Given the description of an element on the screen output the (x, y) to click on. 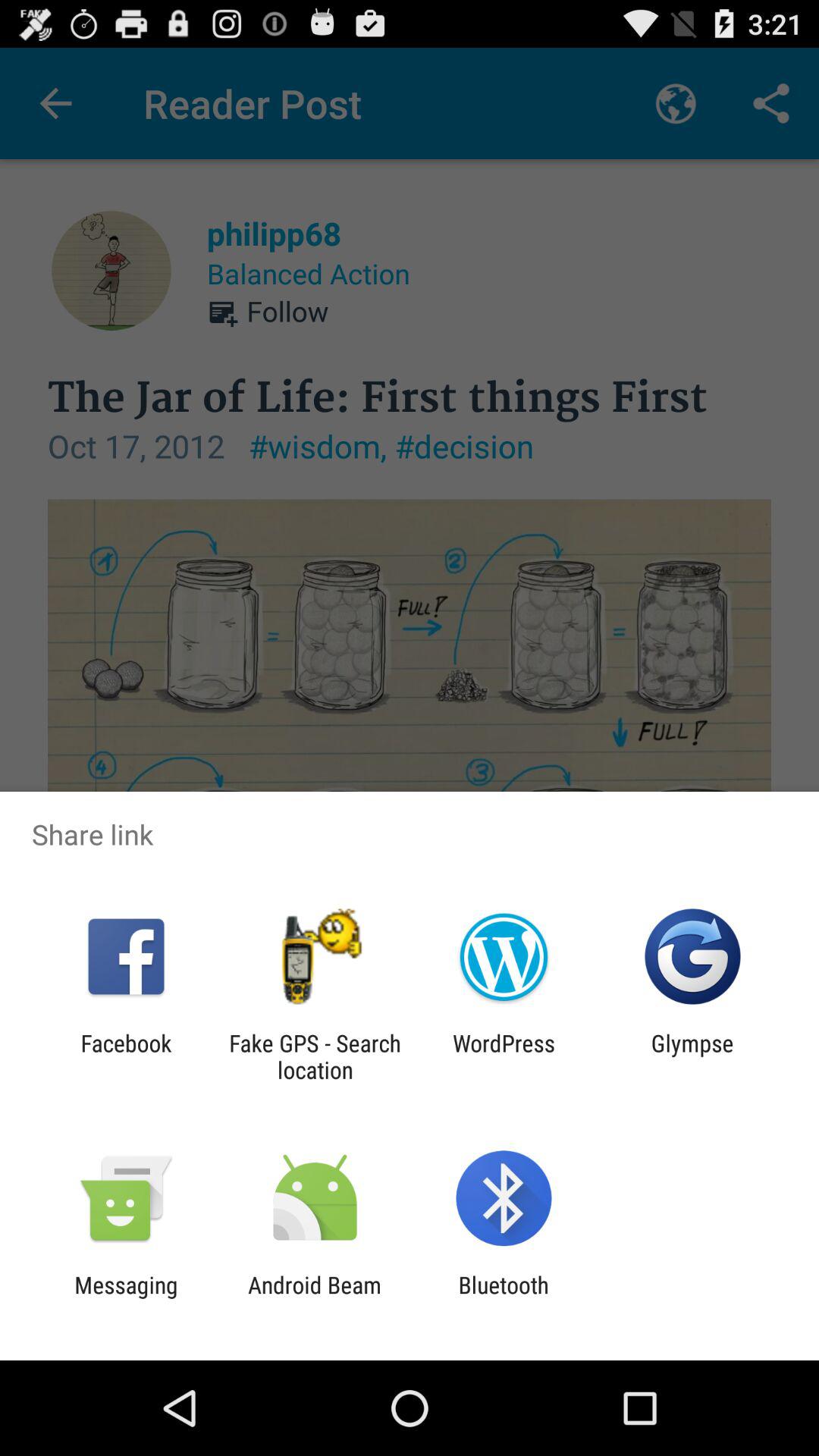
turn off app next to bluetooth item (314, 1298)
